Given the description of an element on the screen output the (x, y) to click on. 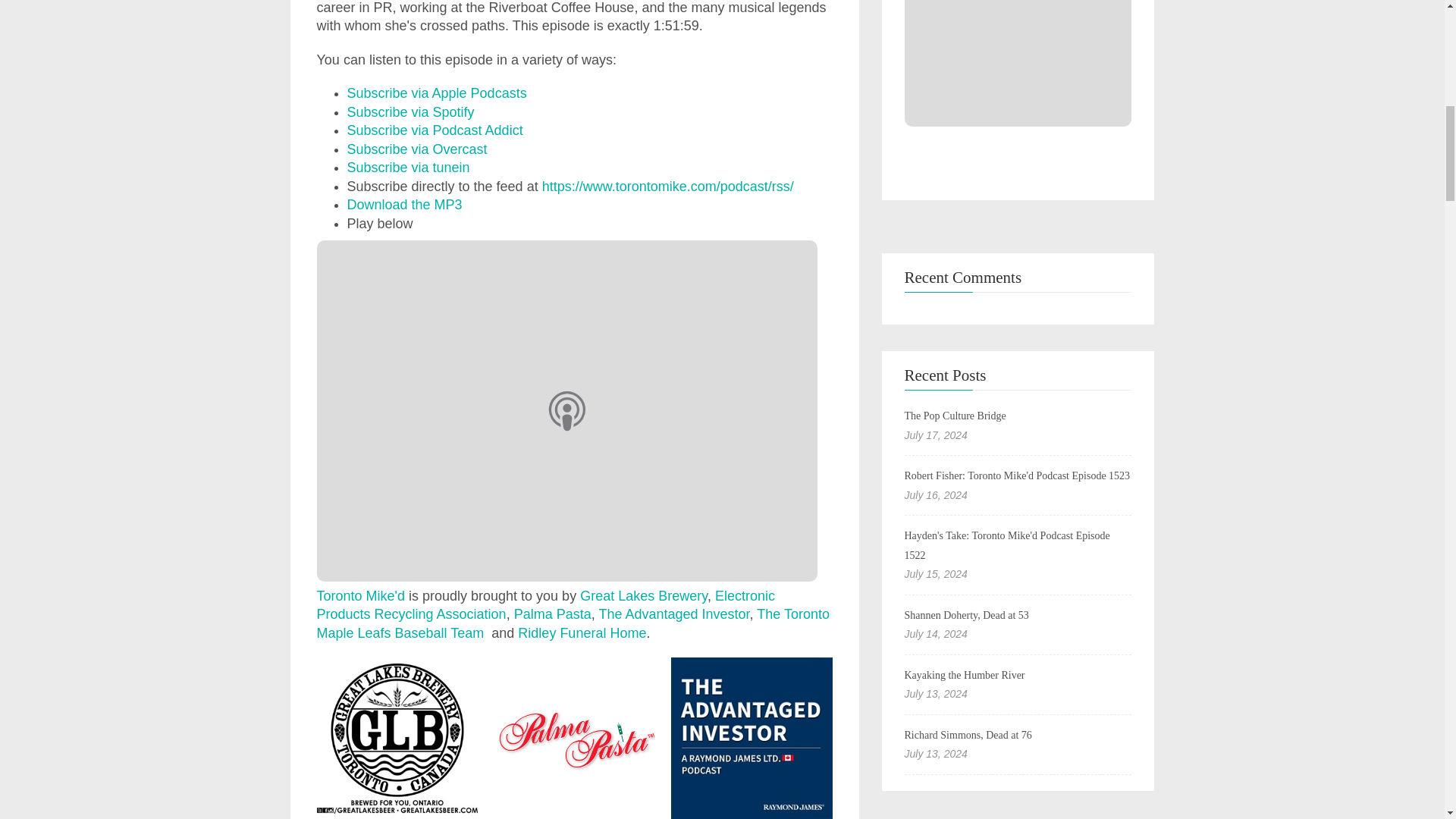
Download the MP3 (405, 204)
Raymond James Podcast (751, 738)
Subscribe via Overcast (417, 149)
Subscribe via tunein (408, 167)
Great Lakes Brewery (643, 595)
Palma Pasta (552, 613)
The Advantaged Investor (673, 613)
Ridley Funeral Home (582, 632)
Subscribe via Apple Podcasts (437, 92)
Electronic Products Recycling Association (545, 605)
Toronto Mike'd (361, 595)
glb (398, 738)
Subscribe via Podcast Addict (434, 130)
The Toronto Maple Leafs Baseball Team (573, 623)
Palma Pasta (574, 738)
